Given the description of an element on the screen output the (x, y) to click on. 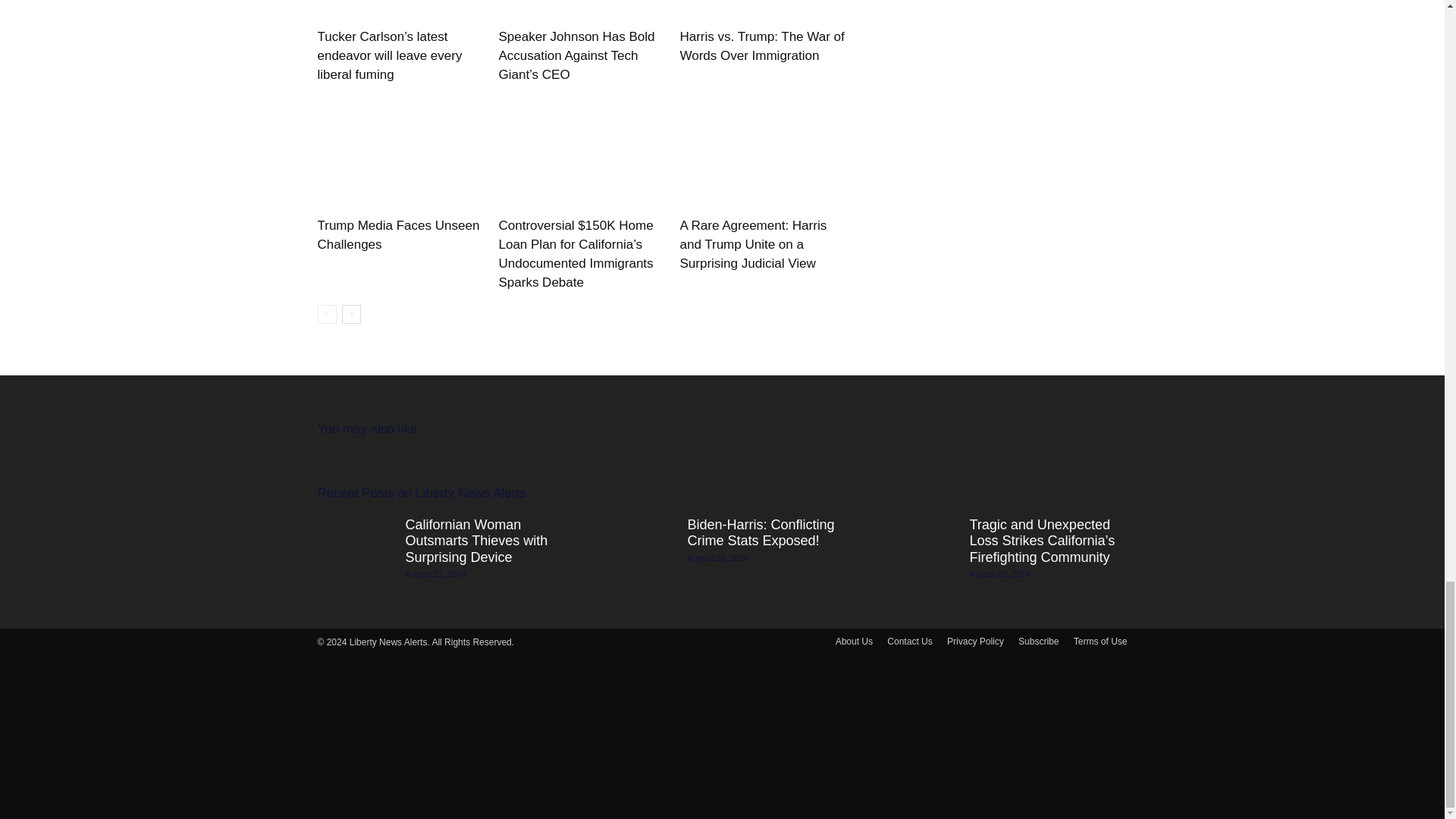
Trump Media Faces Unseen Challenges (399, 153)
Trump Media Faces Unseen Challenges (398, 234)
Harris vs. Trump: The War of Words Over Immigration (761, 46)
Harris vs. Trump: The War of Words Over Immigration (761, 11)
Trump Media Faces Unseen Challenges (398, 234)
Harris vs. Trump: The War of Words Over Immigration (761, 46)
